Given the description of an element on the screen output the (x, y) to click on. 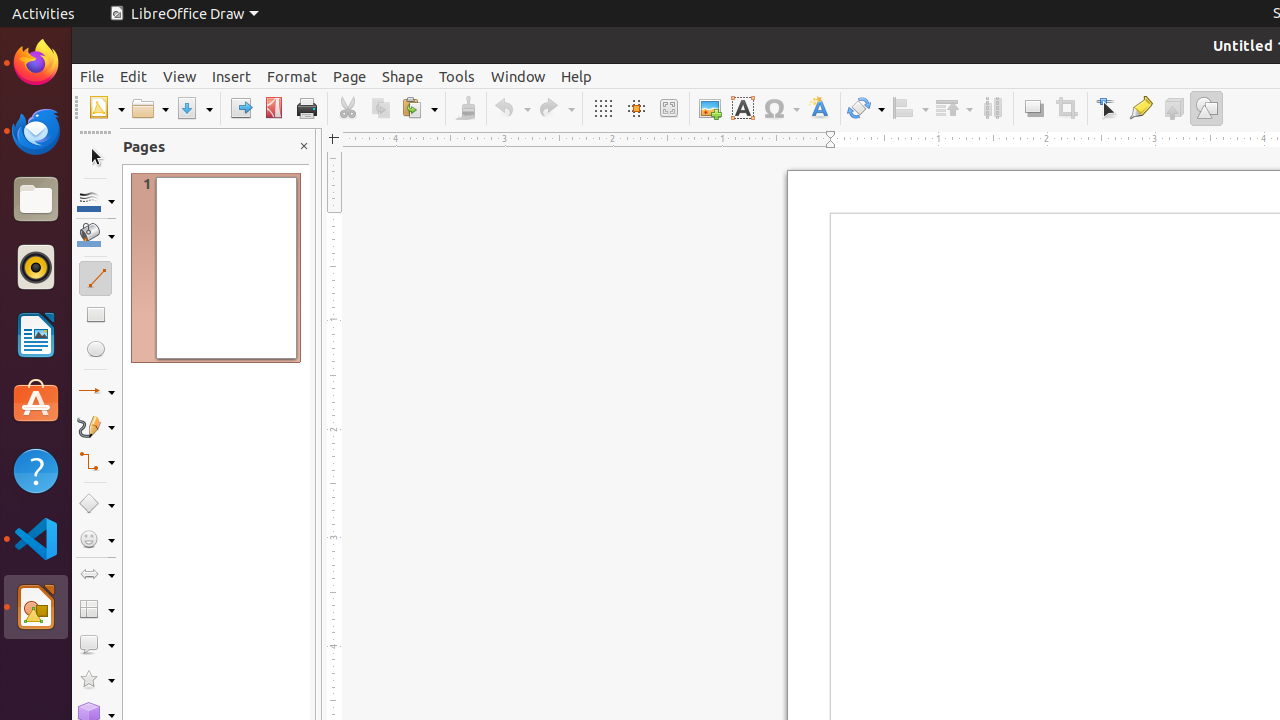
LibreOffice Draw Element type: menu (183, 13)
Format Element type: menu (292, 76)
Copy Element type: push-button (380, 108)
Visual Studio Code Element type: push-button (36, 538)
Print Element type: push-button (306, 108)
